Given the description of an element on the screen output the (x, y) to click on. 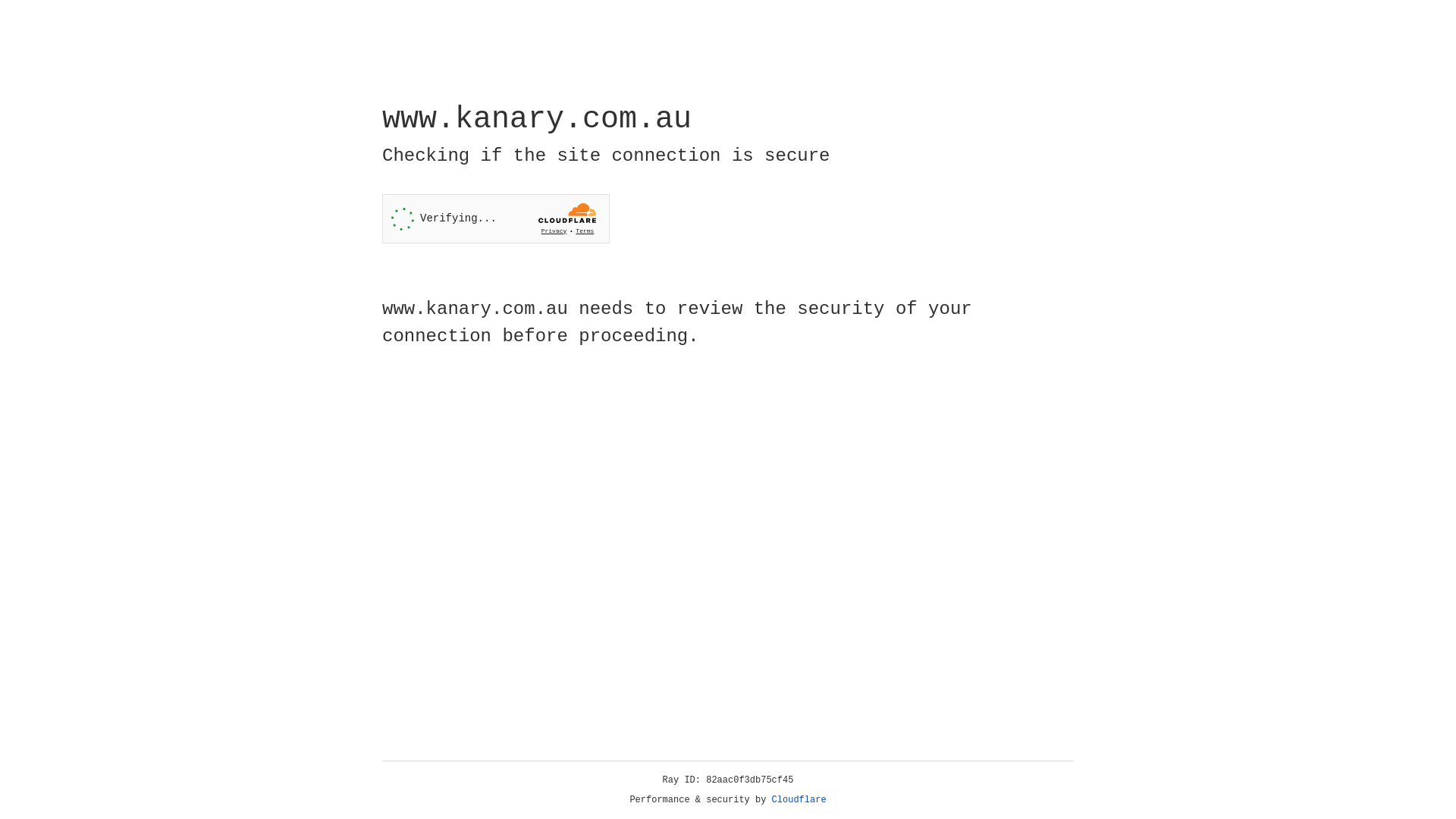
Widget containing a Cloudflare security challenge Element type: hover (495, 218)
Cloudflare Element type: text (798, 799)
